Given the description of an element on the screen output the (x, y) to click on. 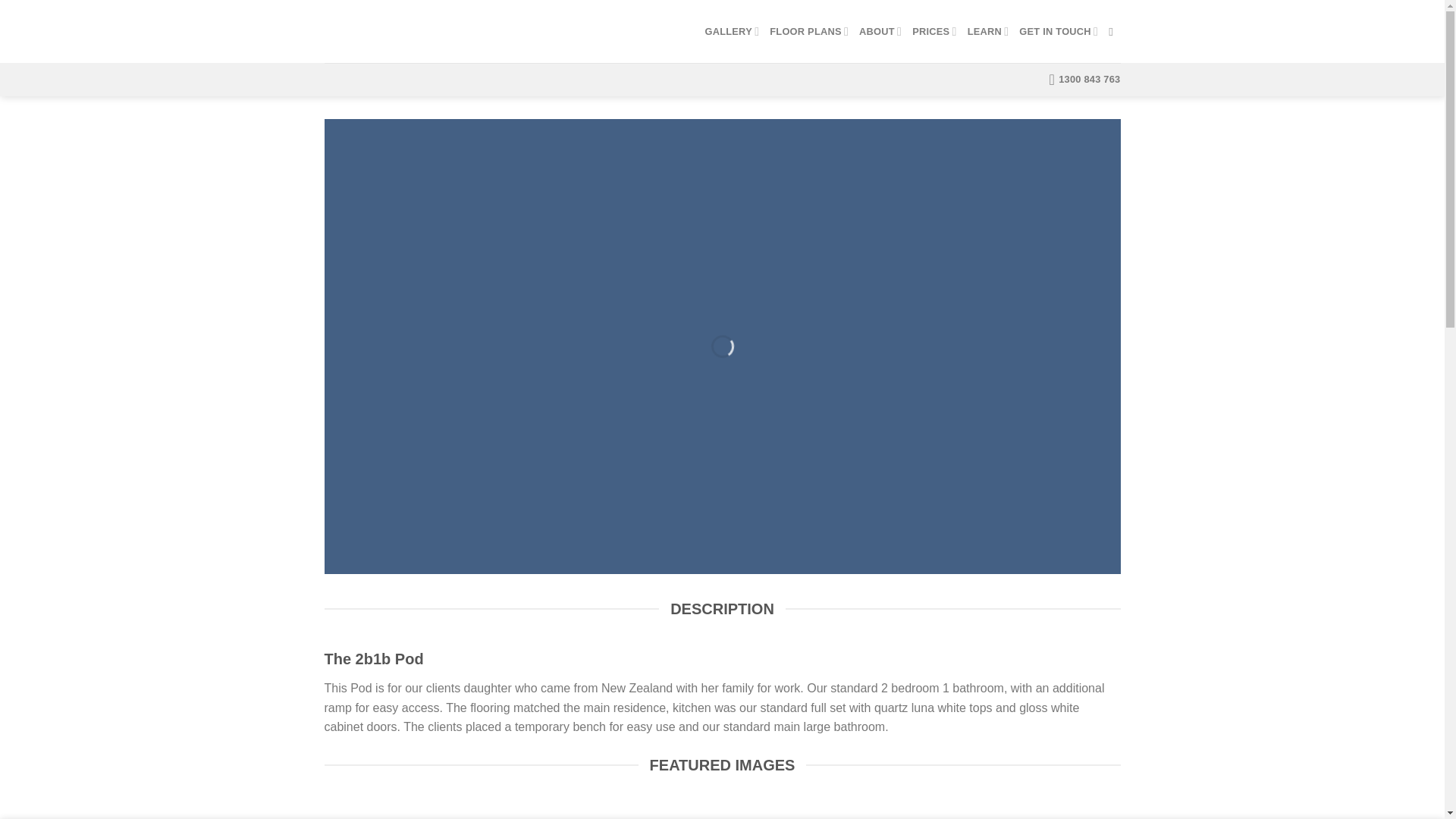
PRICES (934, 30)
LEARN (988, 30)
FLOOR PLANS (809, 30)
1300 843 763 (1085, 79)
ABOUT (880, 30)
GALLERY (731, 30)
1300 843 763 (1085, 79)
GET IN TOUCH (1058, 30)
